Given the description of an element on the screen output the (x, y) to click on. 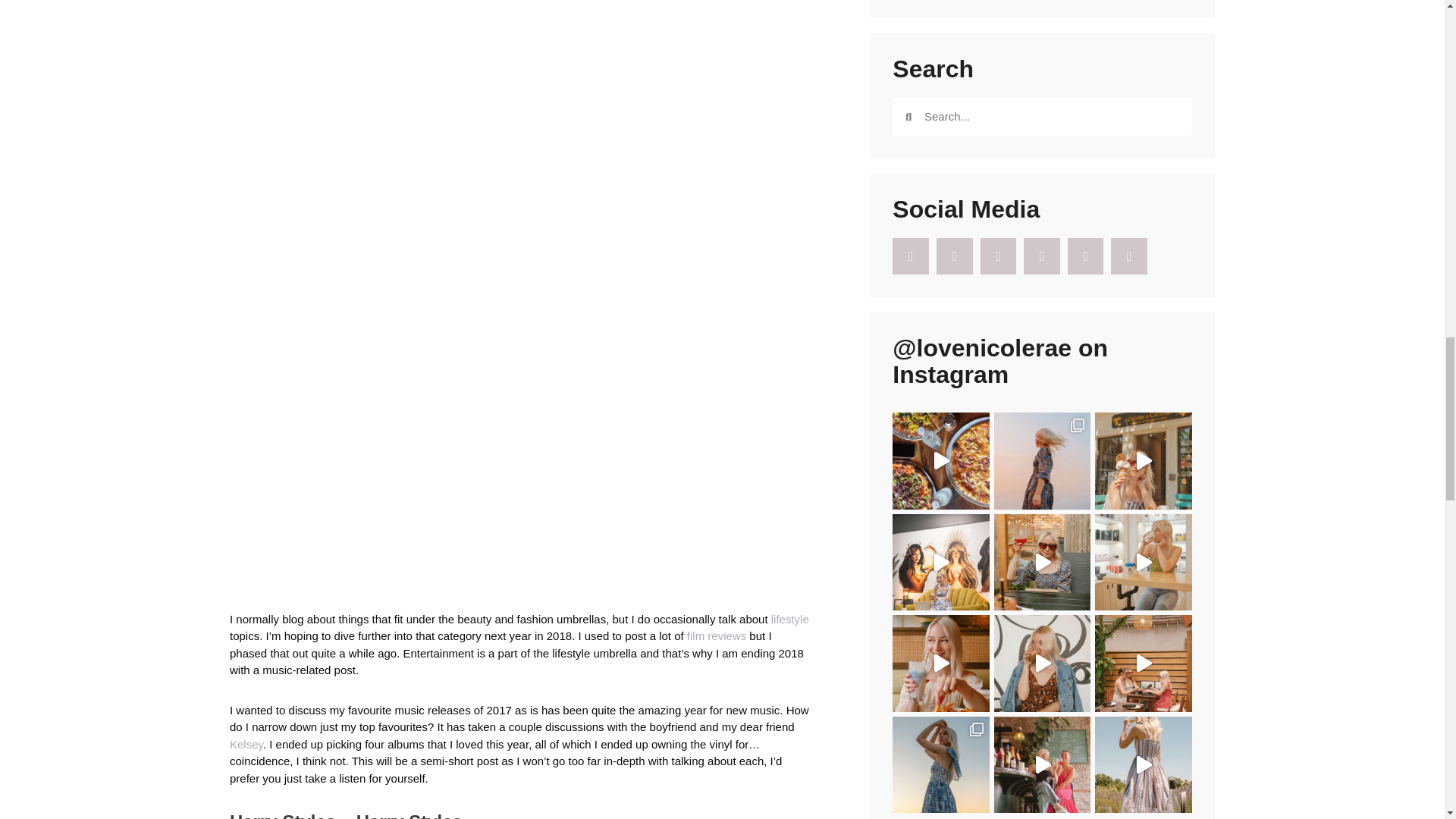
lifestyle (790, 618)
Kelsey (246, 744)
film reviews (716, 635)
